Given the description of an element on the screen output the (x, y) to click on. 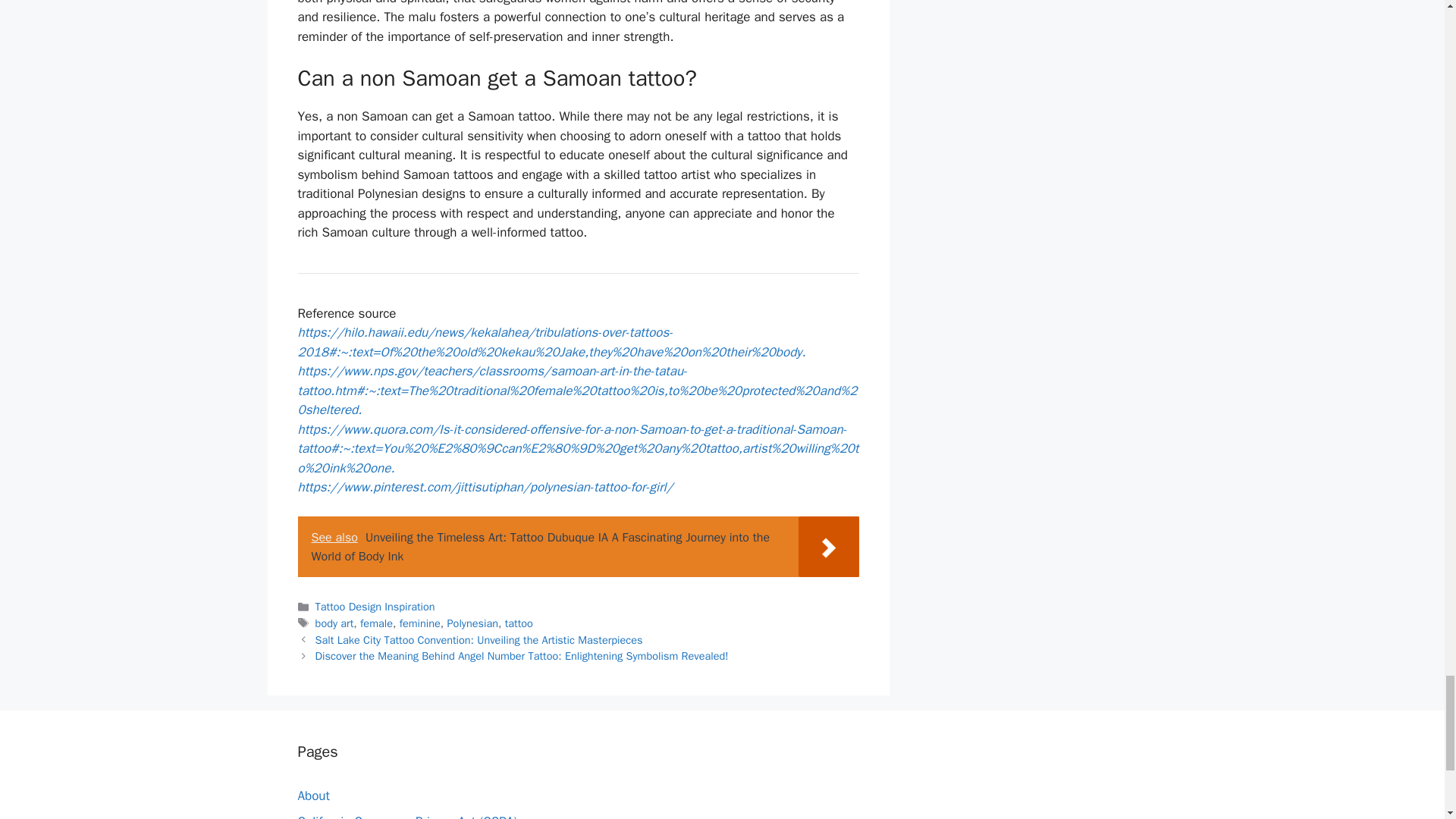
feminine (419, 622)
tattoo (518, 622)
Tattoo Design Inspiration (375, 606)
Polynesian (471, 622)
body art (334, 622)
female (376, 622)
